Given the description of an element on the screen output the (x, y) to click on. 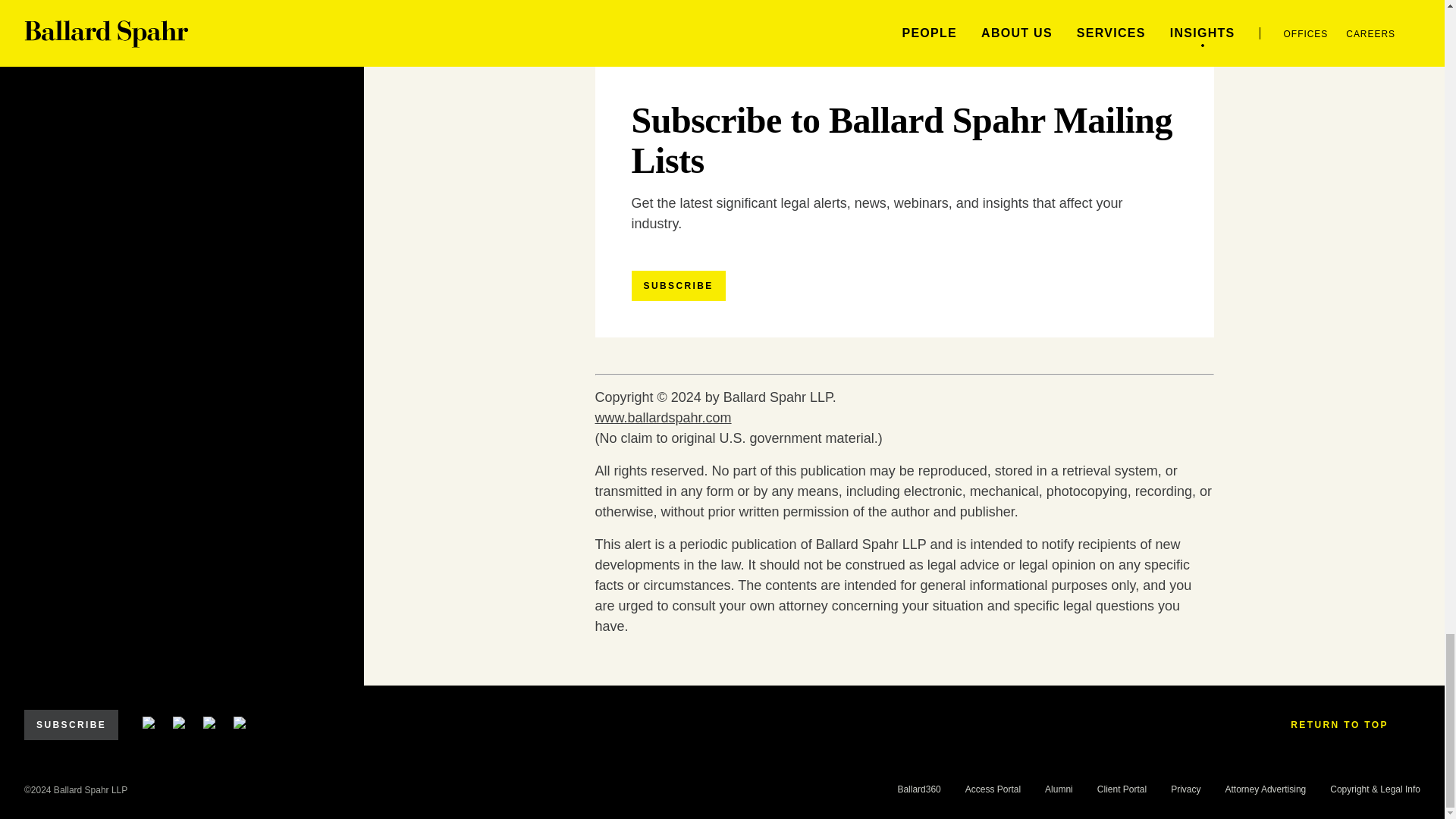
Access Portal (992, 788)
RETURN TO TOP (1349, 725)
Alumni (1059, 788)
www.ballardspahr.com (662, 417)
SUBSCRIBE (70, 725)
SUBSCRIBE (677, 286)
Ballard360 (918, 788)
Client Portal (1122, 788)
